Given the description of an element on the screen output the (x, y) to click on. 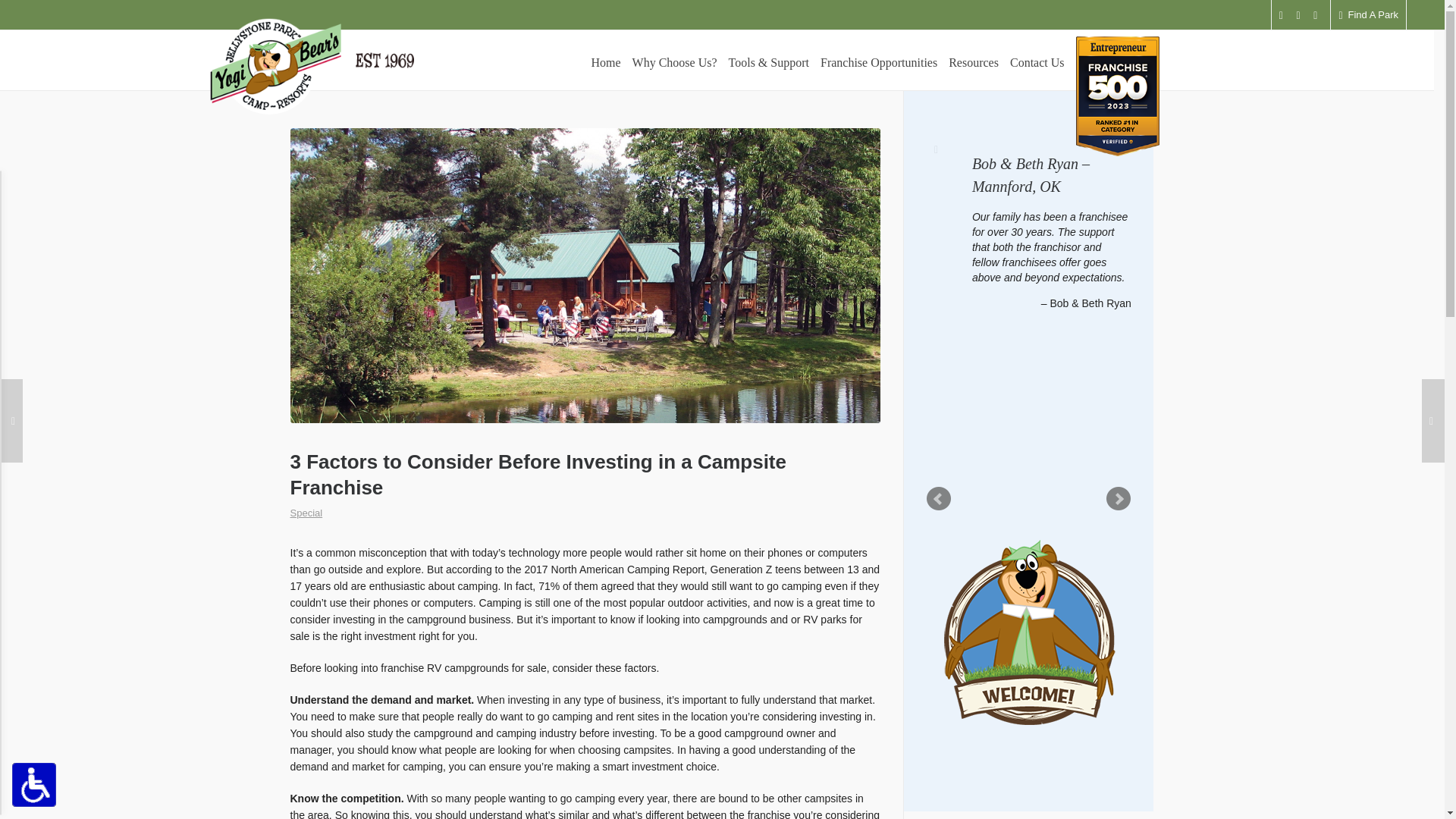
Contact Us (1037, 60)
Resources (1367, 15)
Special (973, 60)
Why Choose Us? (305, 512)
Franchise Opportunities (674, 60)
